Given the description of an element on the screen output the (x, y) to click on. 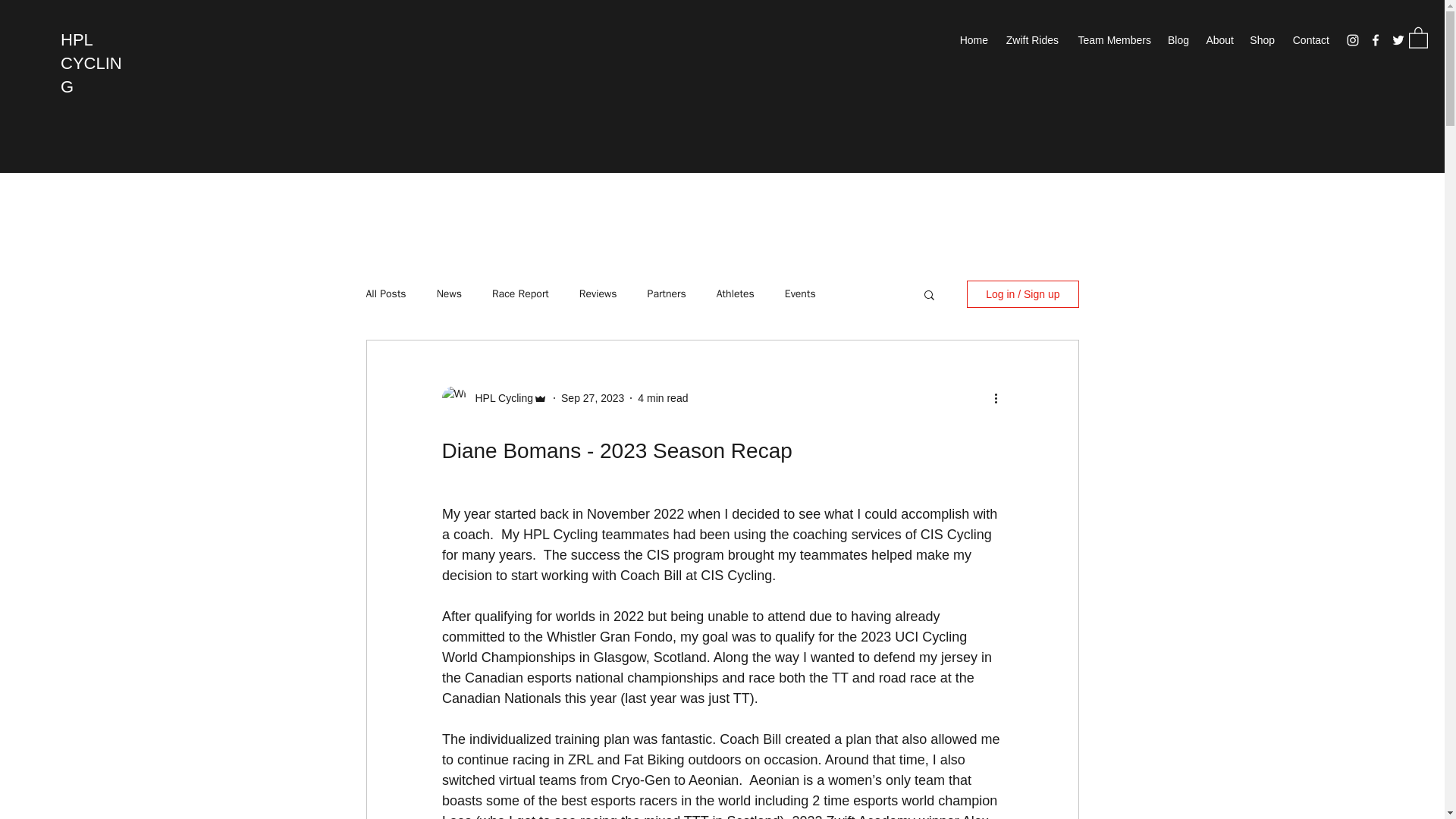
Partners (666, 294)
About (1218, 39)
Home (972, 39)
Shop (1261, 39)
Blog (1177, 39)
Reviews (598, 294)
Team Members (1111, 39)
All Posts (385, 294)
Athletes (735, 294)
HPL Cycling (498, 398)
